Given the description of an element on the screen output the (x, y) to click on. 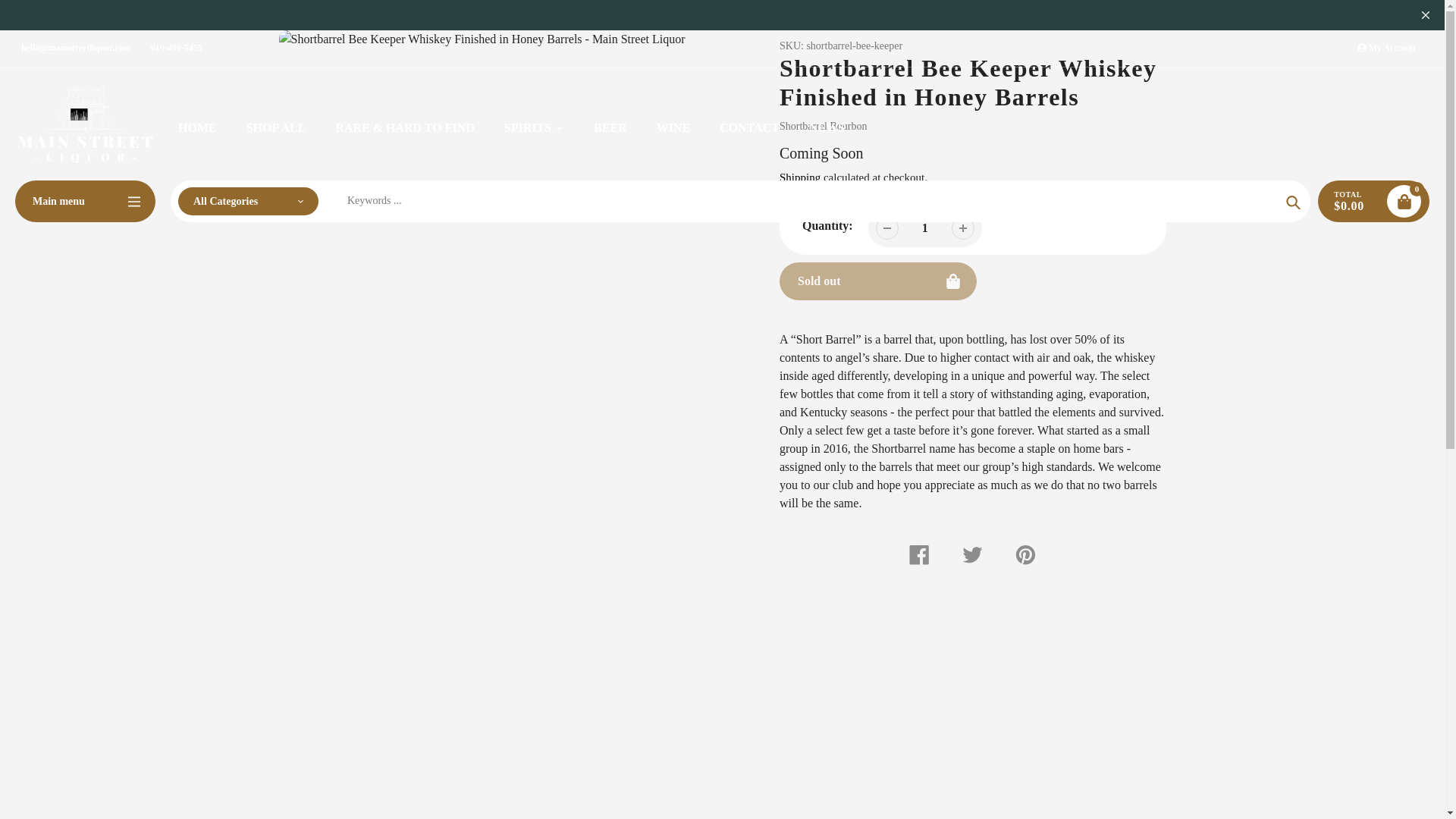
BEER (610, 127)
619-499-5455 (176, 48)
SHOP ALL (275, 127)
My Account (1386, 48)
HOME (196, 127)
Main menu (84, 200)
1 (925, 227)
CONTACT (748, 127)
SPIRITS (533, 127)
NEWS (826, 127)
